Given the description of an element on the screen output the (x, y) to click on. 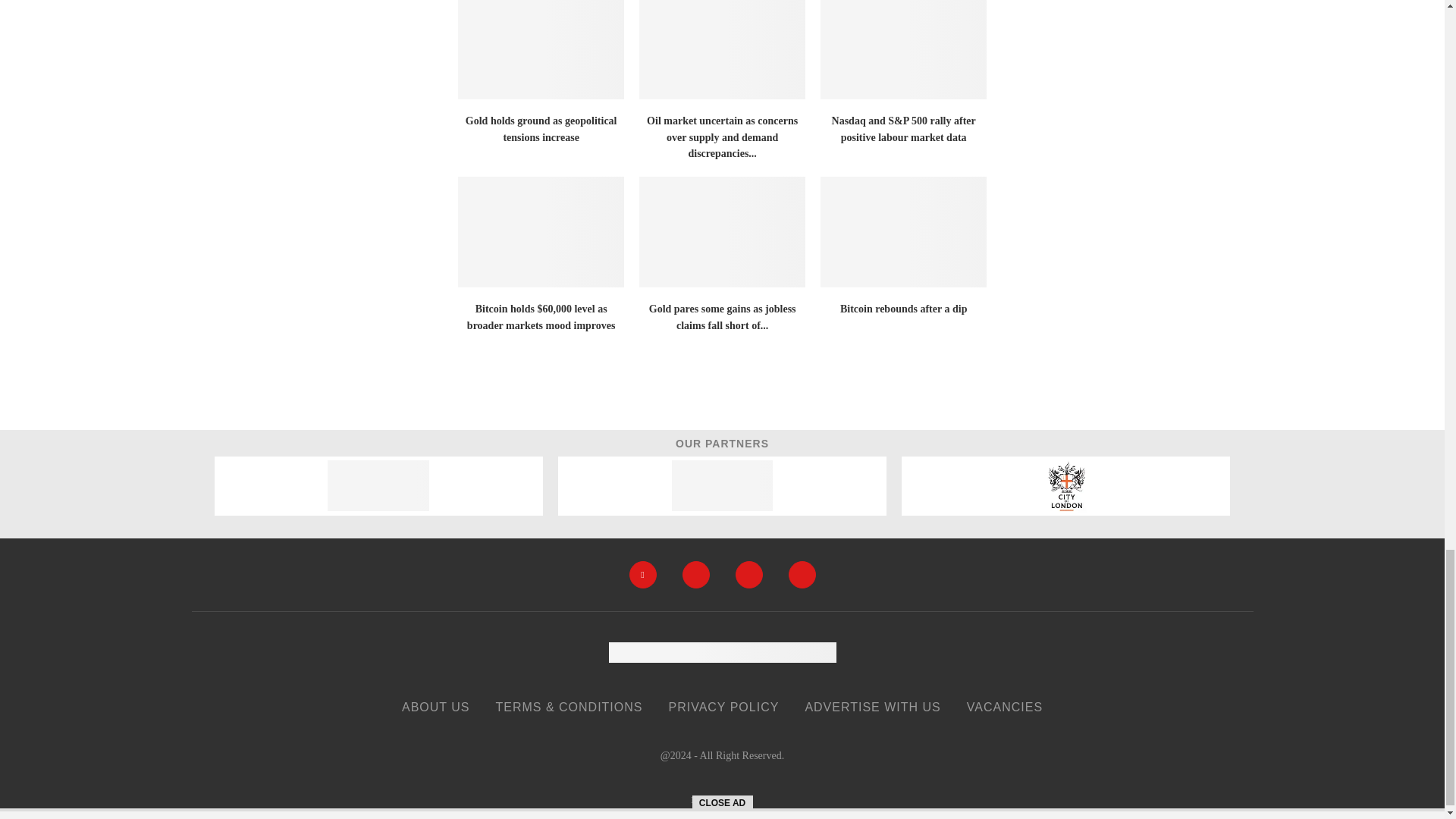
Gold holds ground as geopolitical tensions increase (541, 49)
